Given the description of an element on the screen output the (x, y) to click on. 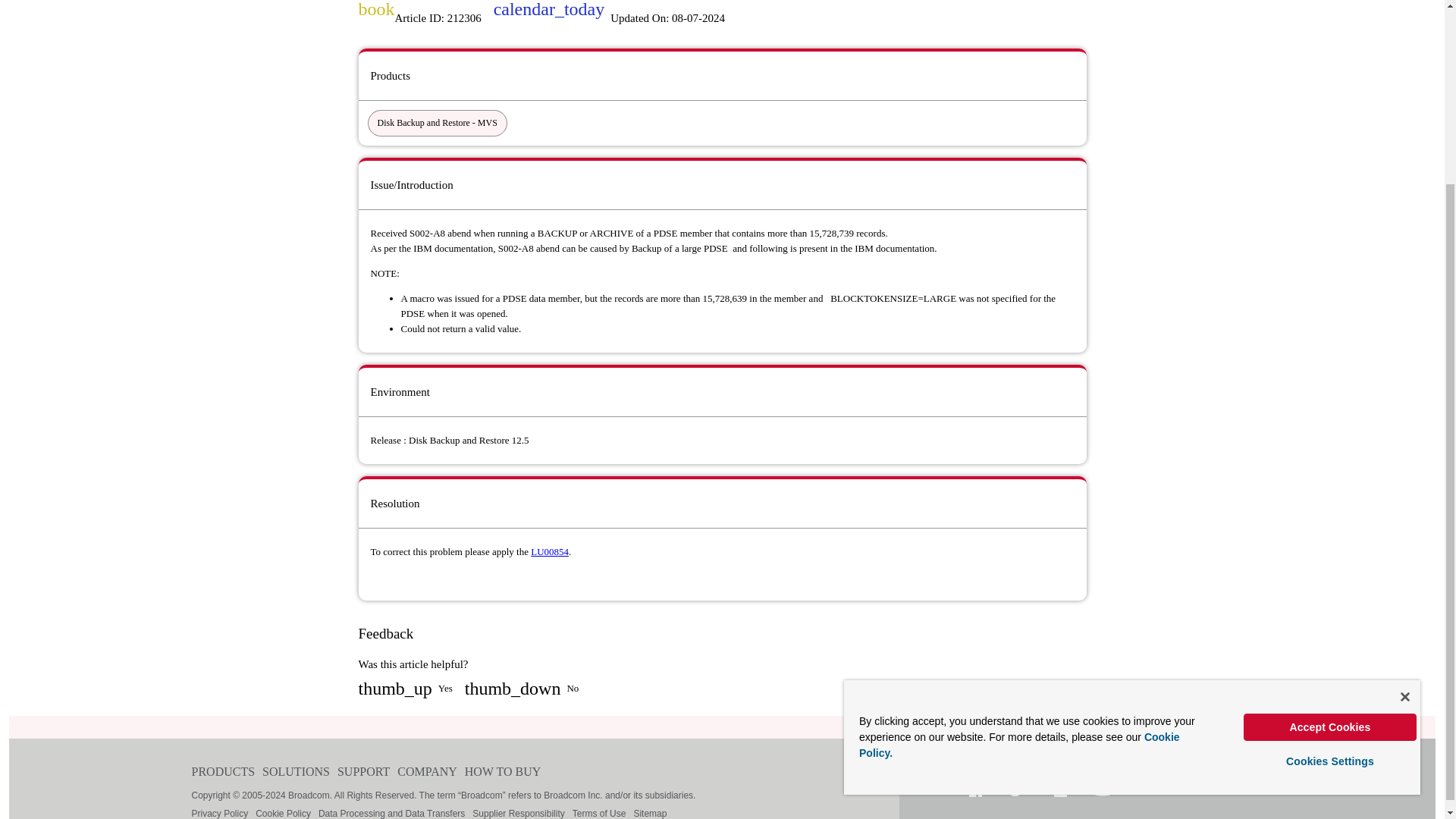
Cookies Settings (1329, 529)
Accept Cookies (1329, 495)
LU00854 (550, 551)
Cookie Policy. (1019, 513)
LU00854 (550, 551)
